Given the description of an element on the screen output the (x, y) to click on. 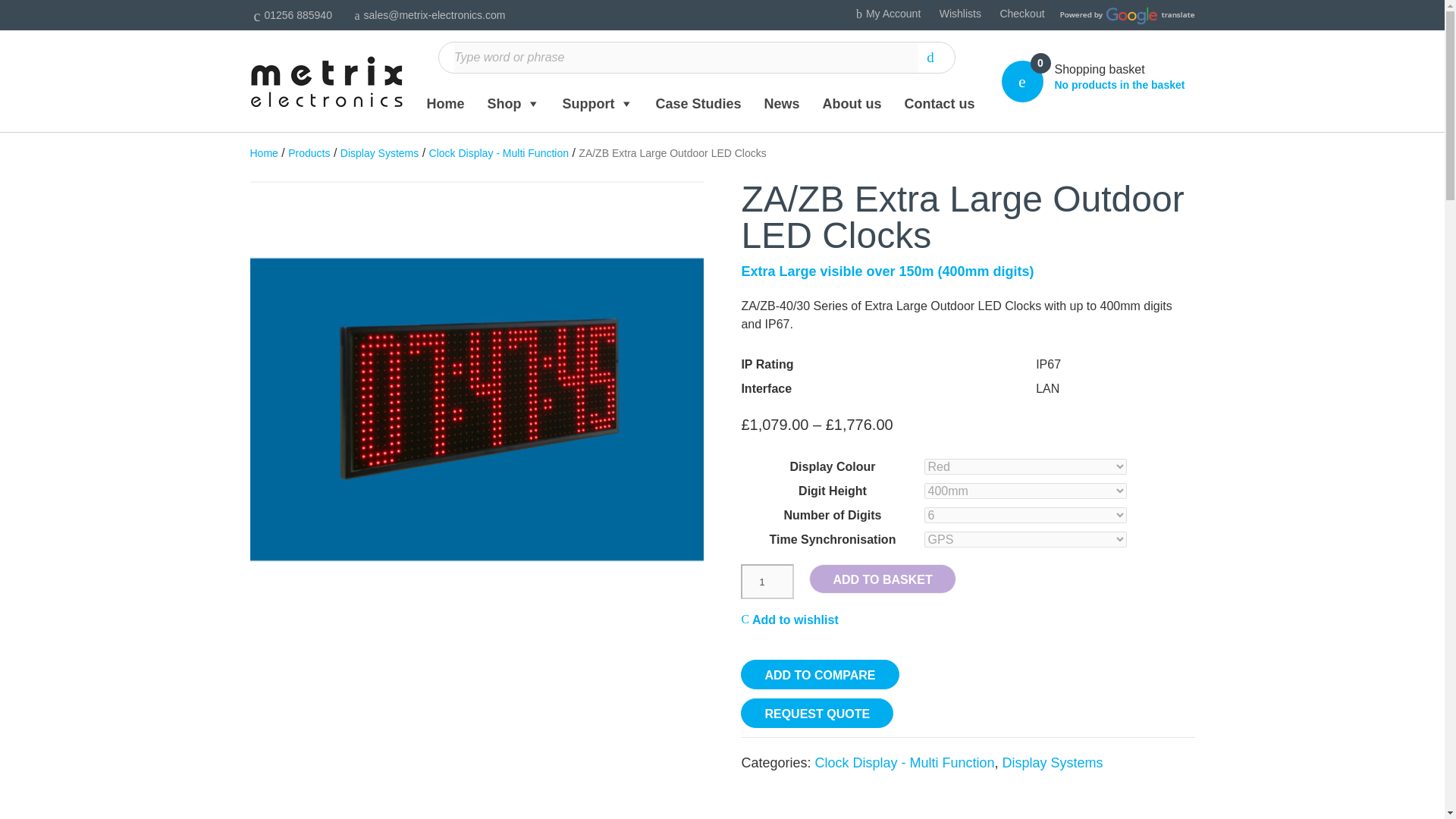
01256 885940 (290, 15)
Go to Products. (309, 151)
Home (441, 104)
Shop (508, 104)
My Account (885, 13)
Wishlists (960, 13)
1 (767, 581)
Checkout (1020, 13)
